Given the description of an element on the screen output the (x, y) to click on. 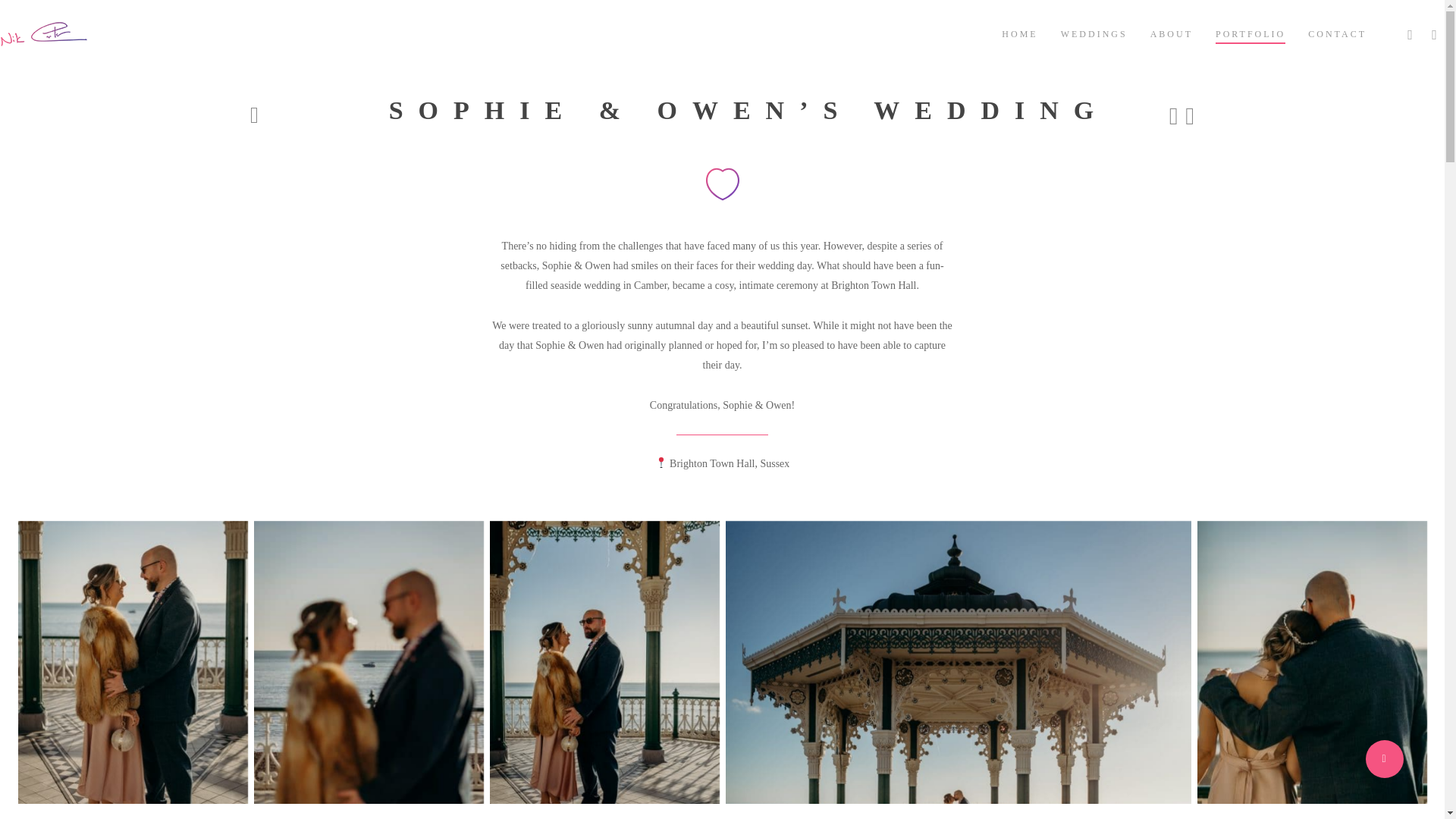
WEDDINGS (1093, 32)
FACEBOOK (1411, 33)
HOME (1018, 32)
PORTFOLIO (1250, 32)
CONTACT (1337, 32)
ABOUT (1171, 32)
